Given the description of an element on the screen output the (x, y) to click on. 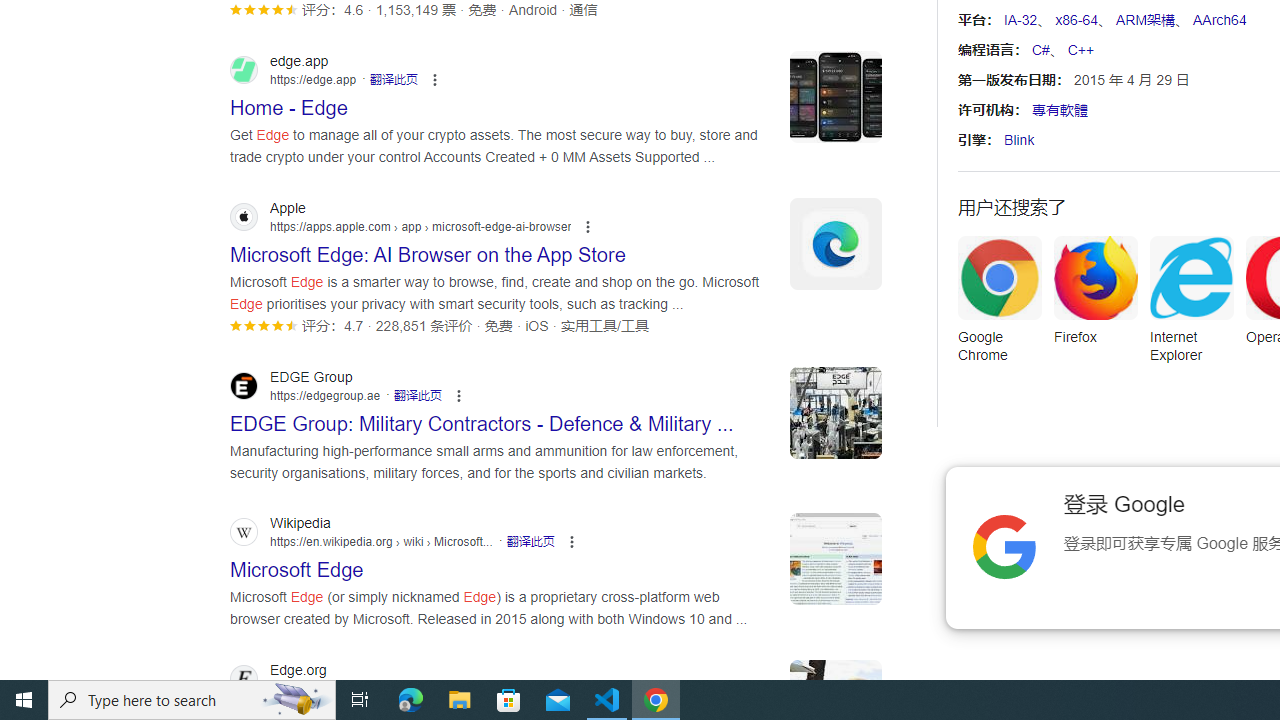
C++ (1080, 49)
IA-32 (1020, 20)
AArch64 (1218, 20)
Internet Explorer (1191, 305)
